Given the description of an element on the screen output the (x, y) to click on. 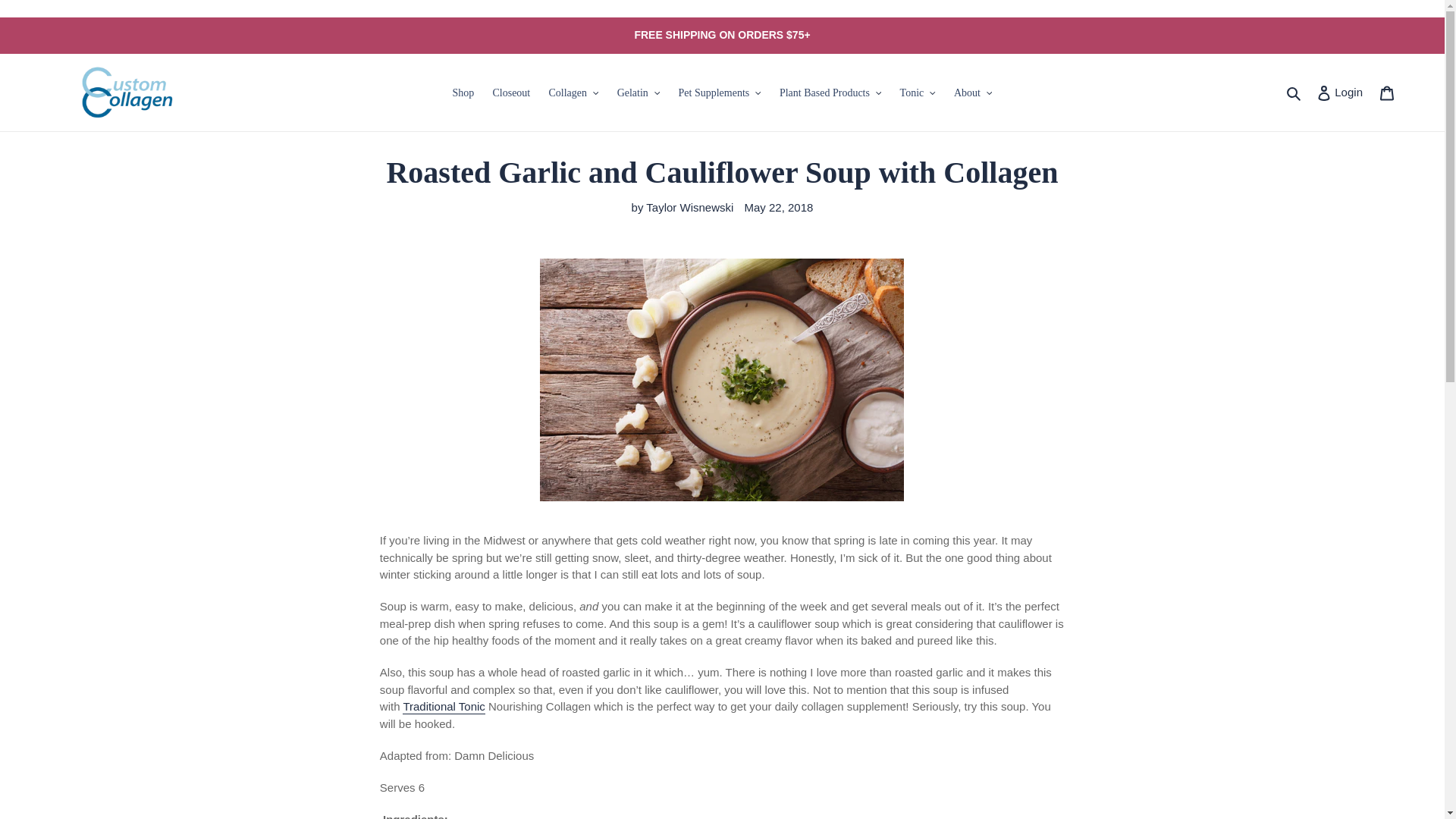
Gelatin (639, 92)
Tonic (917, 92)
About (973, 92)
Shop (1339, 92)
Closeout (462, 92)
Plant Based Products (510, 92)
Cart (830, 92)
Search (1387, 92)
Collagen (1294, 92)
Pet Supplements (572, 92)
